Given the description of an element on the screen output the (x, y) to click on. 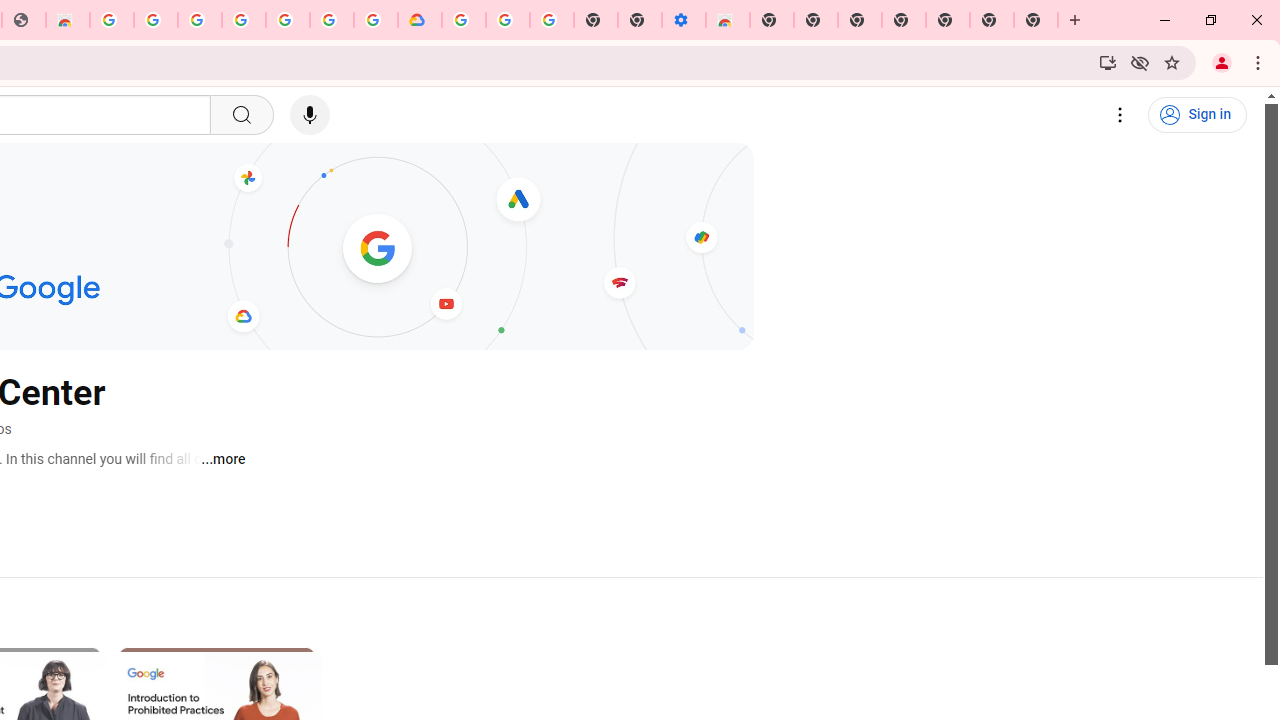
New Tab (771, 20)
Search with your voice (309, 115)
Sign in - Google Accounts (331, 20)
Settings (1119, 115)
Settings - Accessibility (683, 20)
Install YouTube (1107, 62)
